Given the description of an element on the screen output the (x, y) to click on. 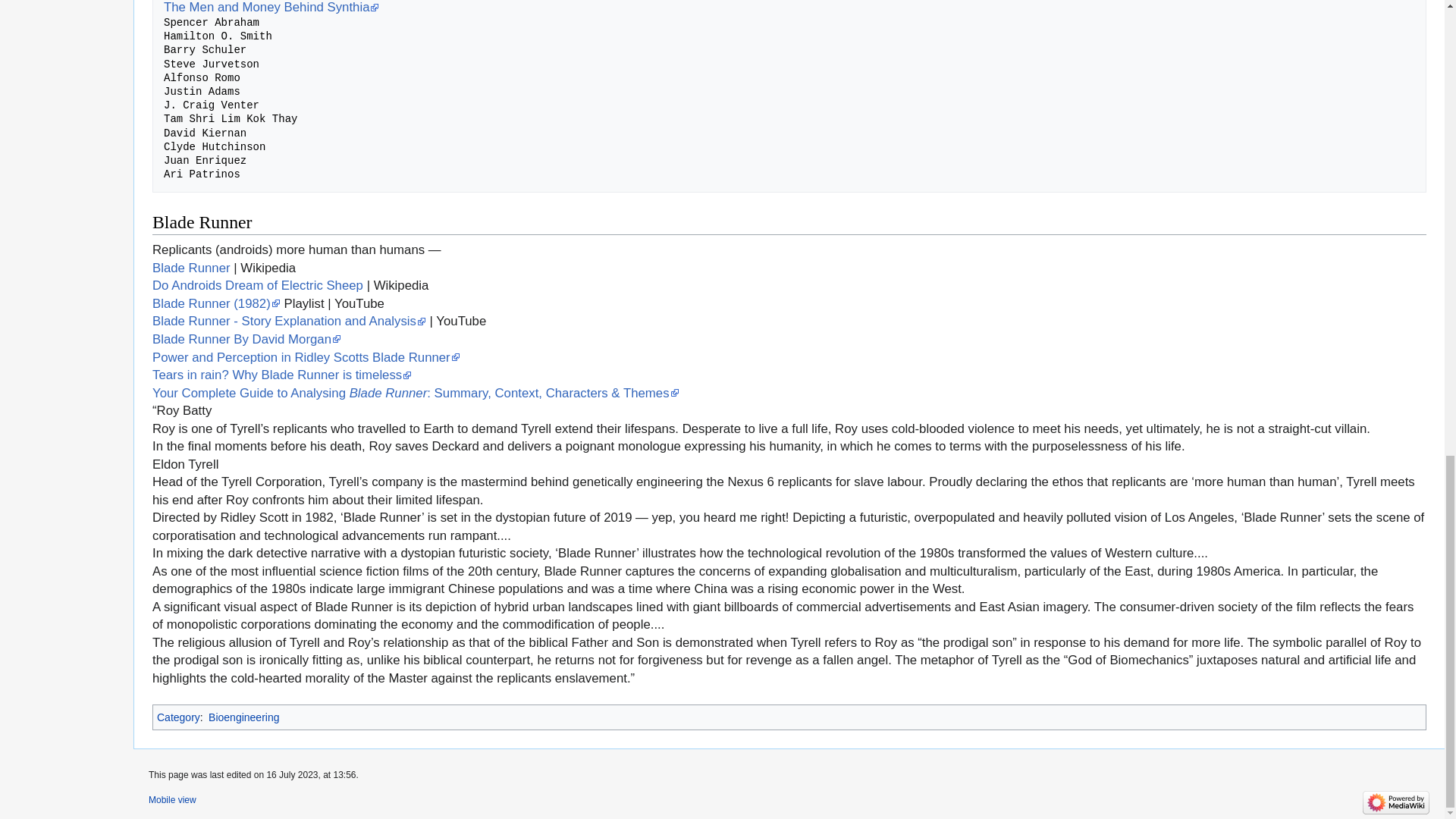
Special:Categories (178, 717)
wikipedia:Blade Runner (191, 268)
Category:Bioengineering (243, 717)
wikipedia:Do Androids Dream of Electric Sheep? (257, 285)
